Given the description of an element on the screen output the (x, y) to click on. 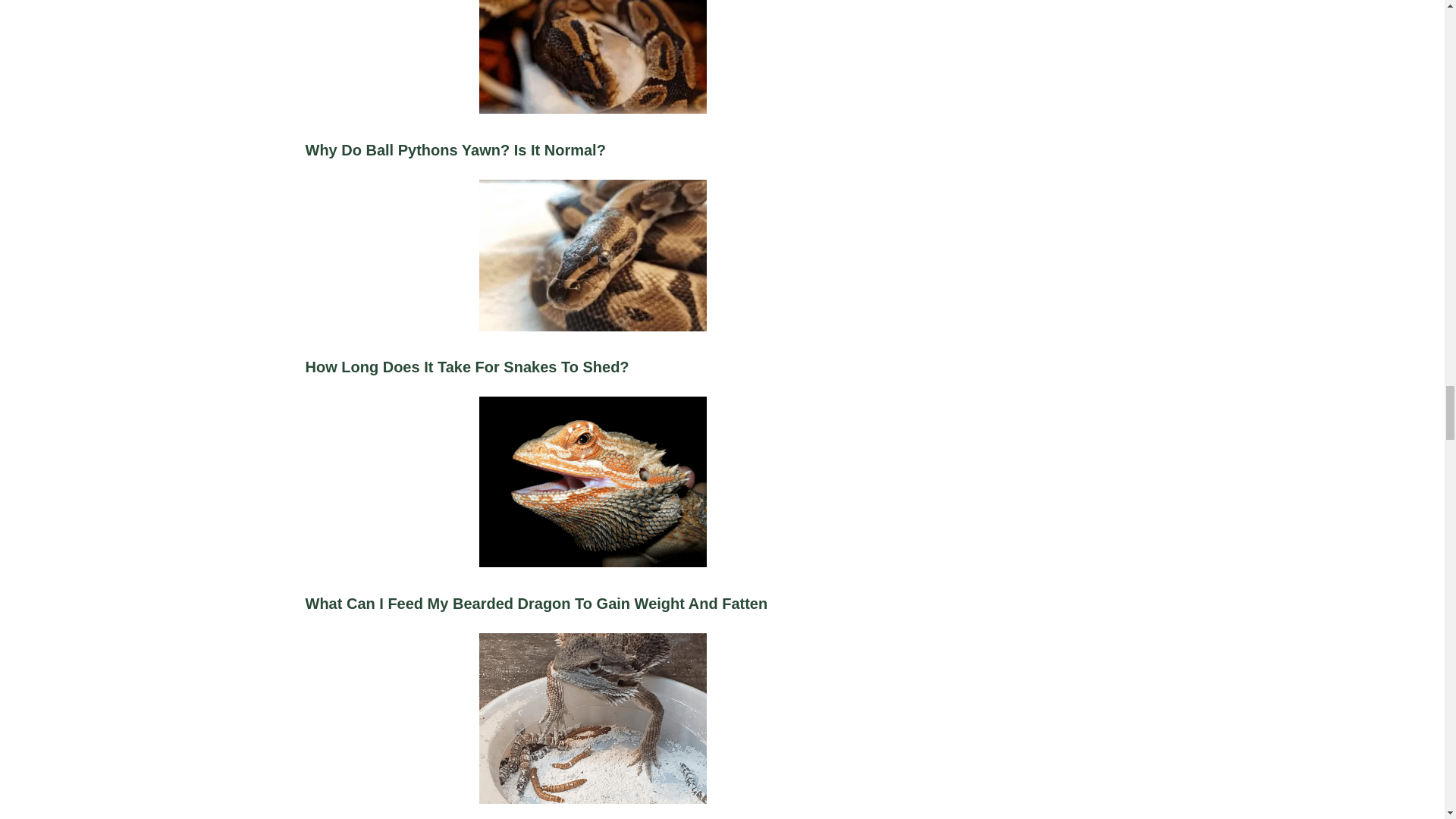
Why Do Ball Pythons Yawn? Is It Normal? (592, 97)
